Given the description of an element on the screen output the (x, y) to click on. 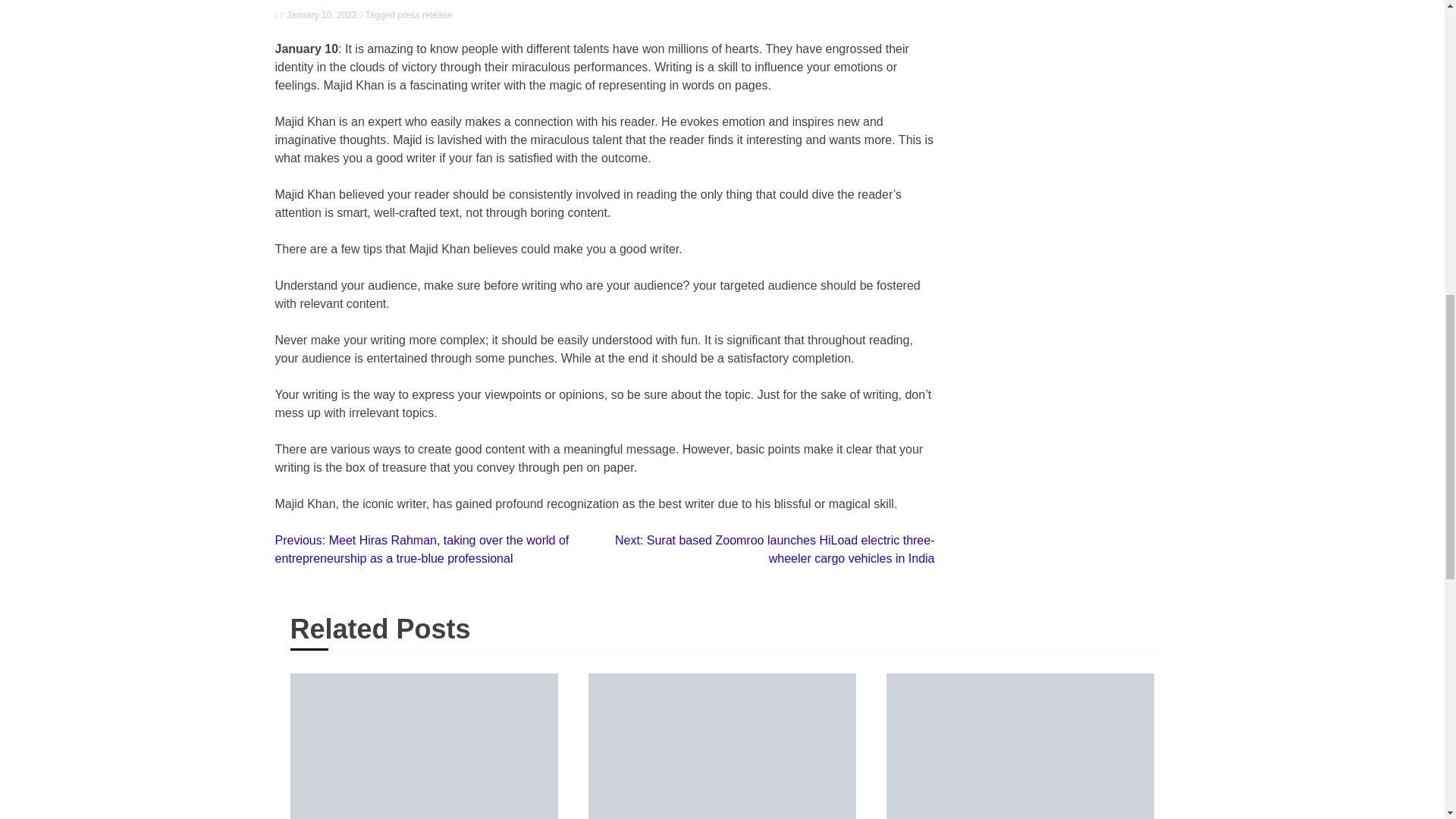
January 10, 2022 (318, 15)
press release (424, 14)
